Given the description of an element on the screen output the (x, y) to click on. 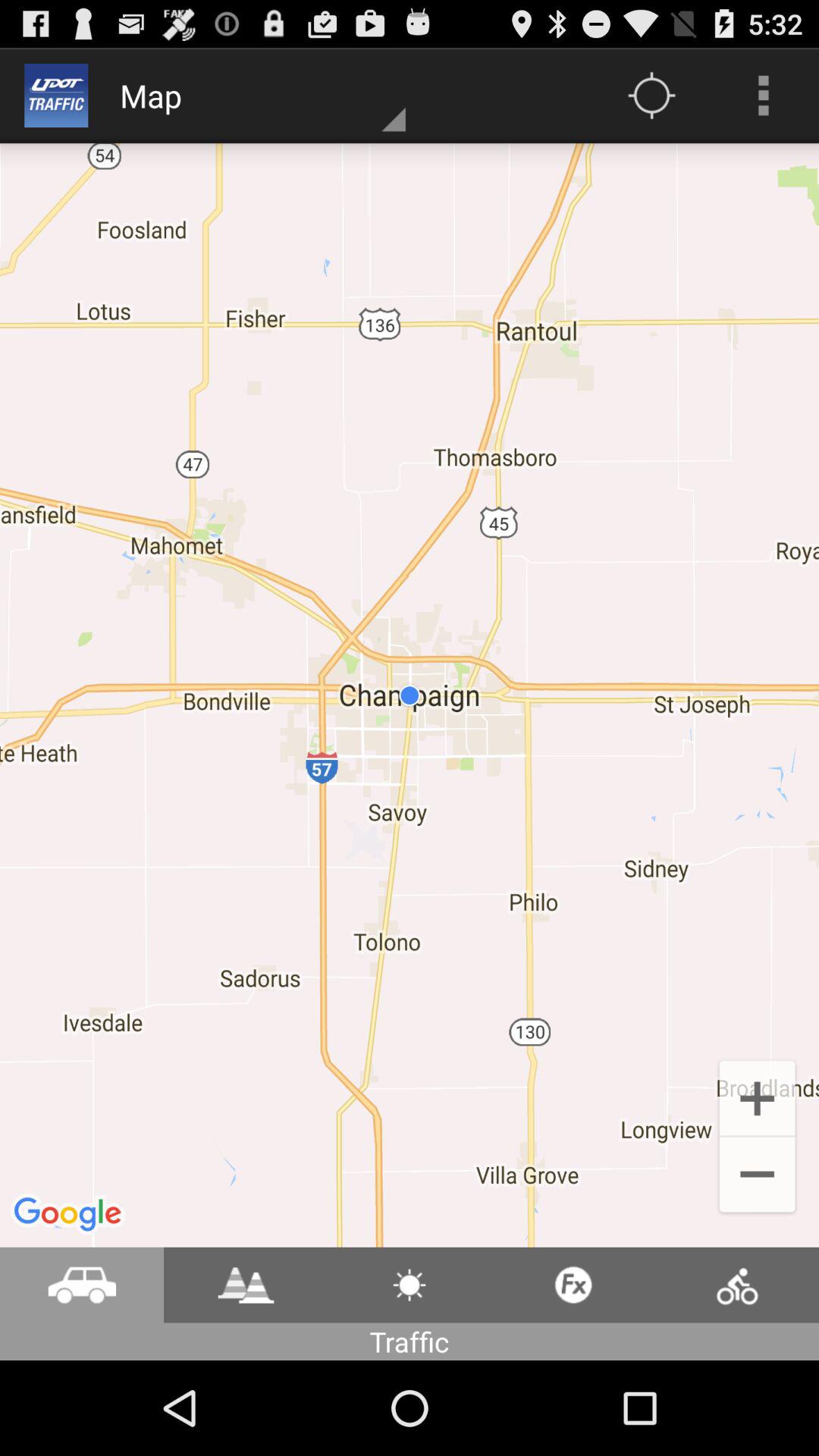
show the traffic on the map (245, 1284)
